Given the description of an element on the screen output the (x, y) to click on. 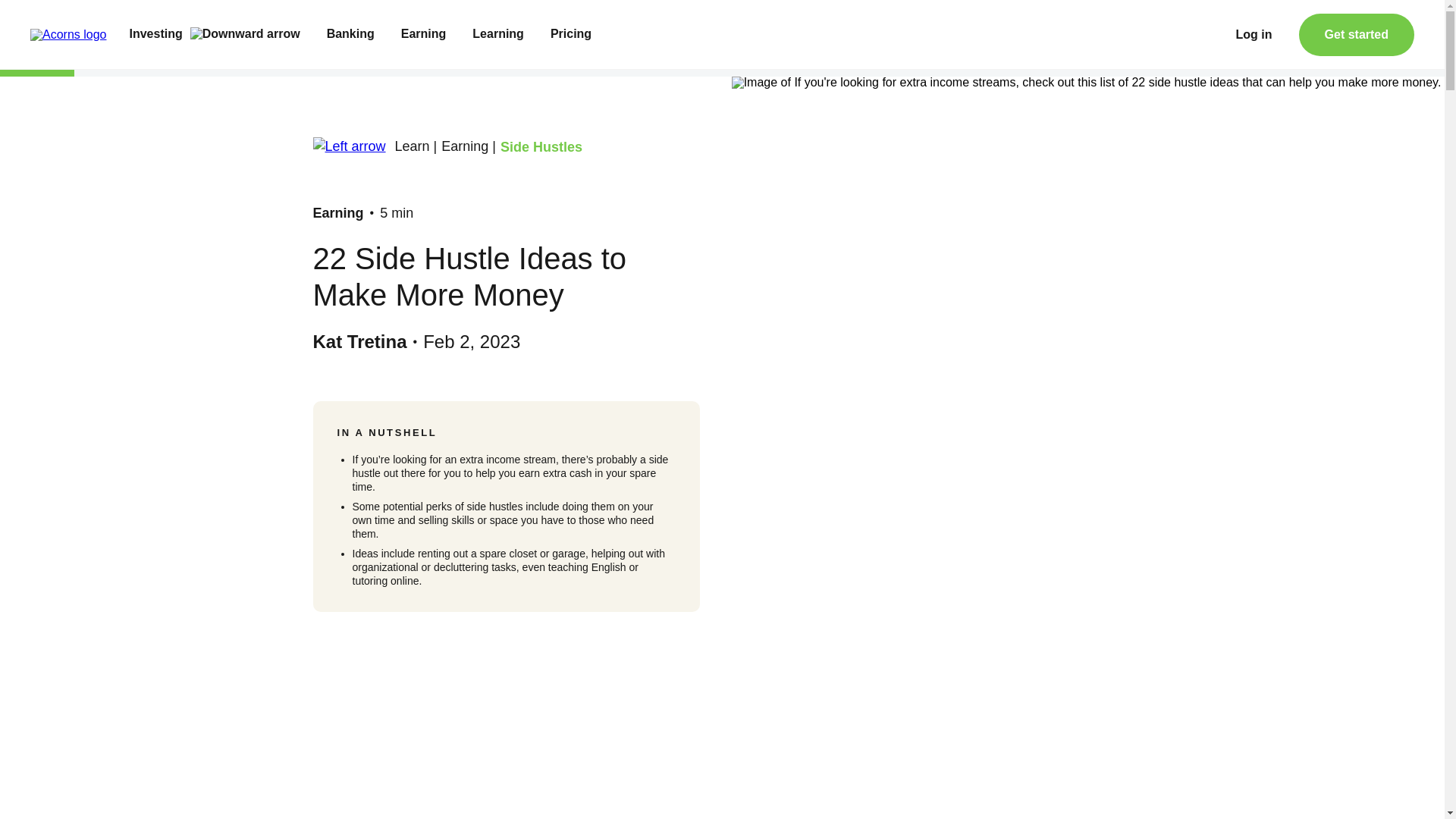
Pricing (570, 34)
Log in (1254, 34)
Earning (337, 212)
Kat Tretina (359, 341)
Banking (350, 34)
Side Hustles (541, 147)
Earning (423, 34)
Get started (1355, 34)
Learning (497, 34)
